Given the description of an element on the screen output the (x, y) to click on. 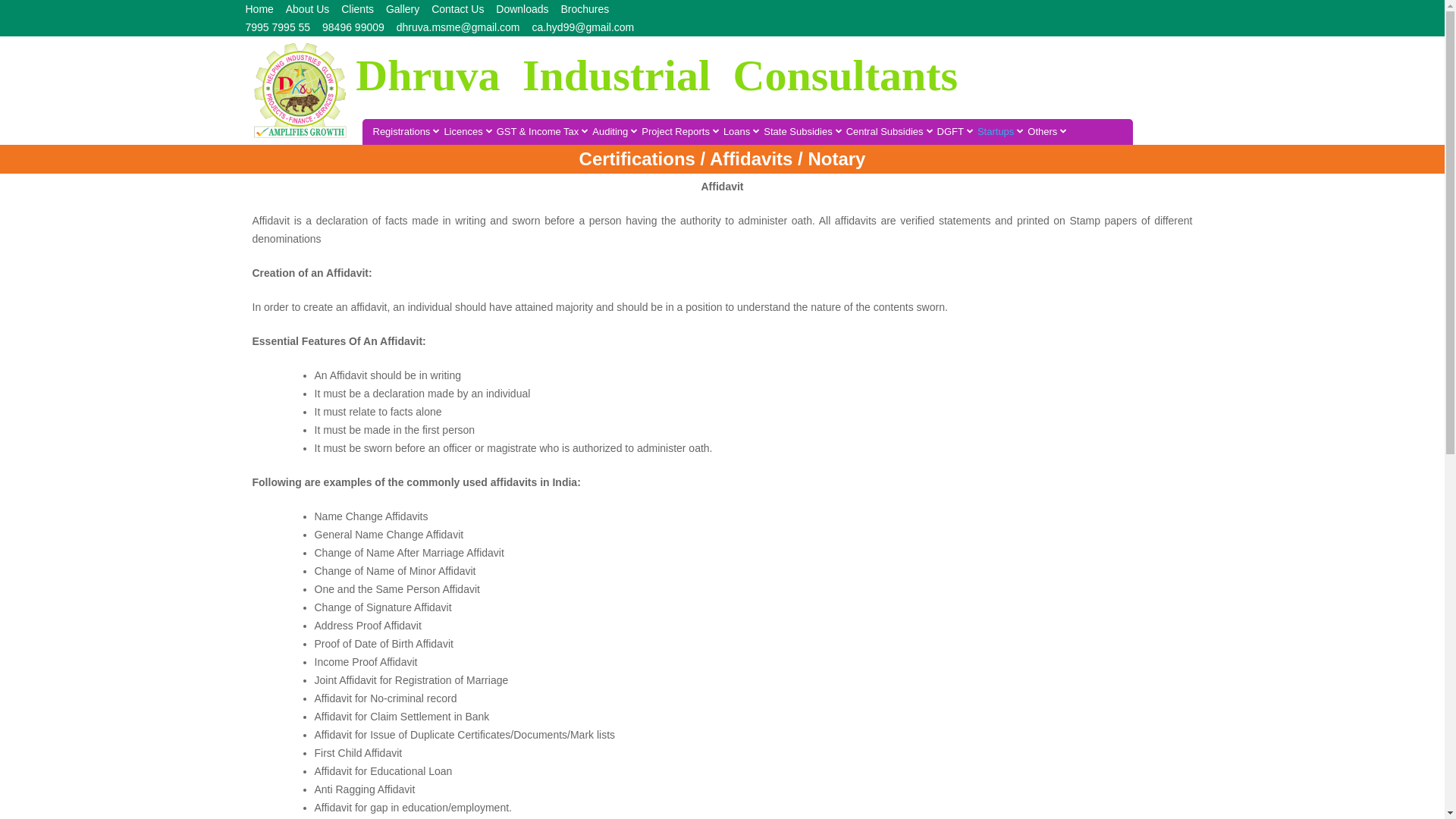
Home (259, 9)
Gallery (402, 9)
About Us (307, 9)
Downloads (522, 9)
Brochures (584, 9)
Contact Us (456, 9)
Clients (357, 9)
98496 99009 (352, 27)
7995 7995 55 (278, 27)
